Given the description of an element on the screen output the (x, y) to click on. 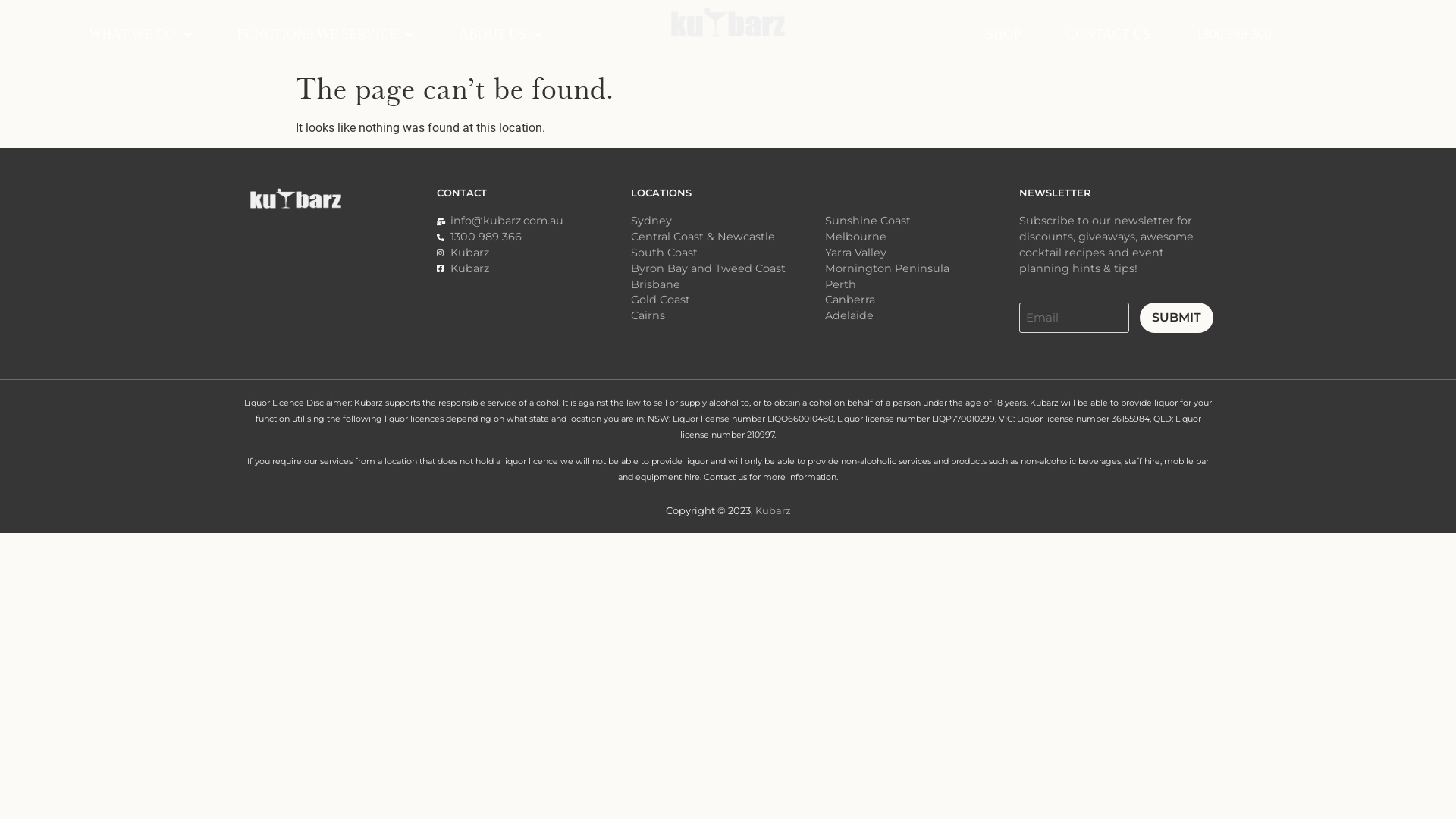
FUNCTIONS WE SERVICE Element type: text (325, 33)
1300 989 366 Element type: text (533, 236)
Sydney Element type: text (727, 221)
WHAT WE DO Element type: text (140, 33)
Kubarz Element type: text (533, 252)
Mornington Peninsula Element type: text (922, 268)
Adelaide Element type: text (922, 315)
Melbourne Element type: text (922, 236)
Sunshine Coast Element type: text (922, 221)
Byron Bay and Tweed Coast Element type: text (727, 268)
South Coast Element type: text (727, 252)
Cairns Element type: text (727, 315)
Kubarz Element type: text (533, 268)
info@kubarz.com.au Element type: text (533, 221)
Brisbane Element type: text (727, 284)
1300 989 366 Element type: text (1233, 33)
ABOUT US Element type: text (500, 33)
Perth Element type: text (922, 284)
CONTACT US Element type: text (1108, 33)
Central Coast & Newcastle Element type: text (727, 236)
Yarra Valley Element type: text (922, 252)
Gold Coast Element type: text (727, 299)
SHOP Element type: text (1003, 33)
Kubarz Element type: text (772, 510)
Submit Element type: text (1176, 317)
Canberra Element type: text (922, 299)
